Given the description of an element on the screen output the (x, y) to click on. 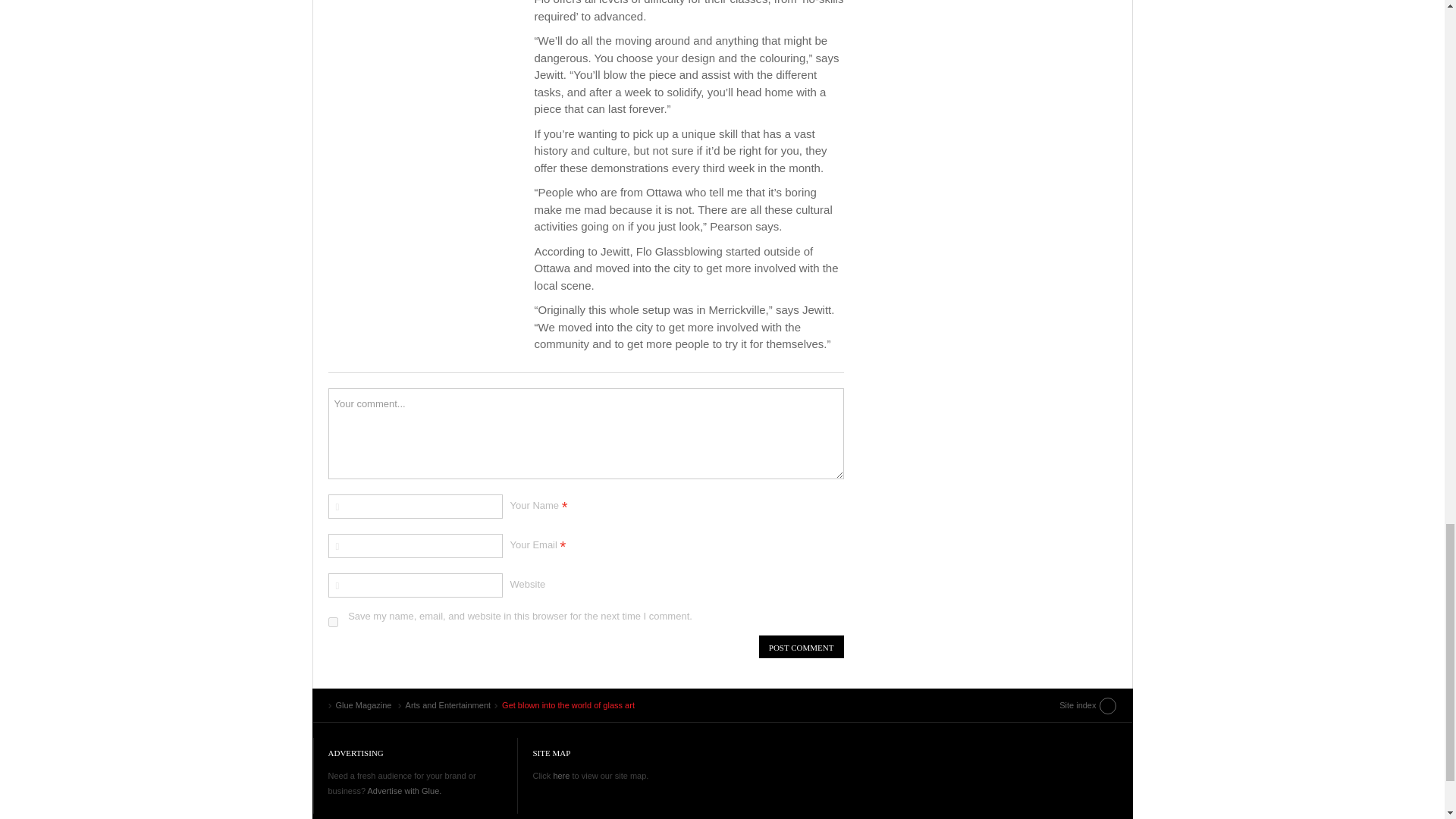
yes (332, 622)
Post Comment (801, 646)
